Given the description of an element on the screen output the (x, y) to click on. 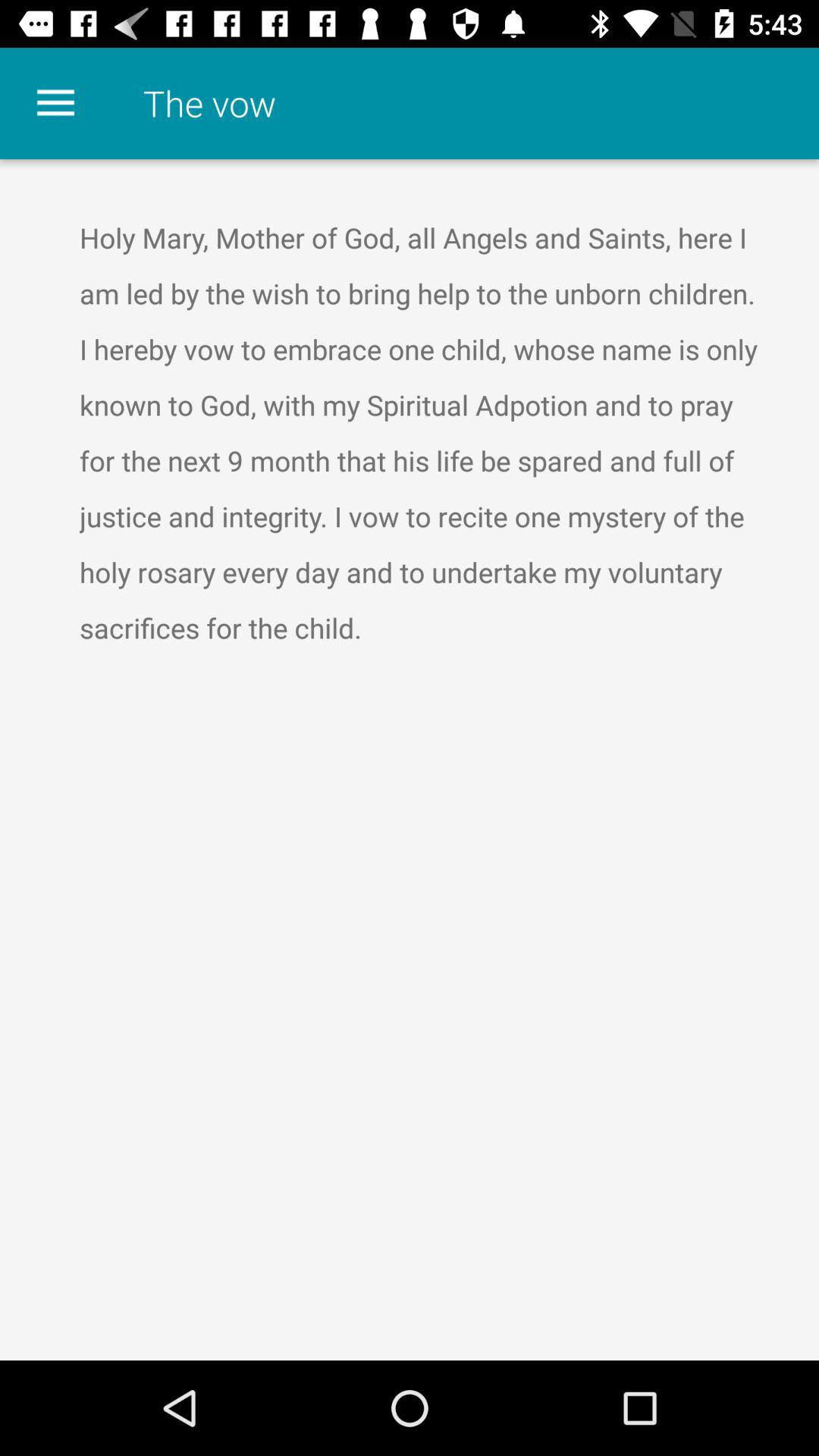
turn on the icon above the holy mary mother (55, 103)
